Given the description of an element on the screen output the (x, y) to click on. 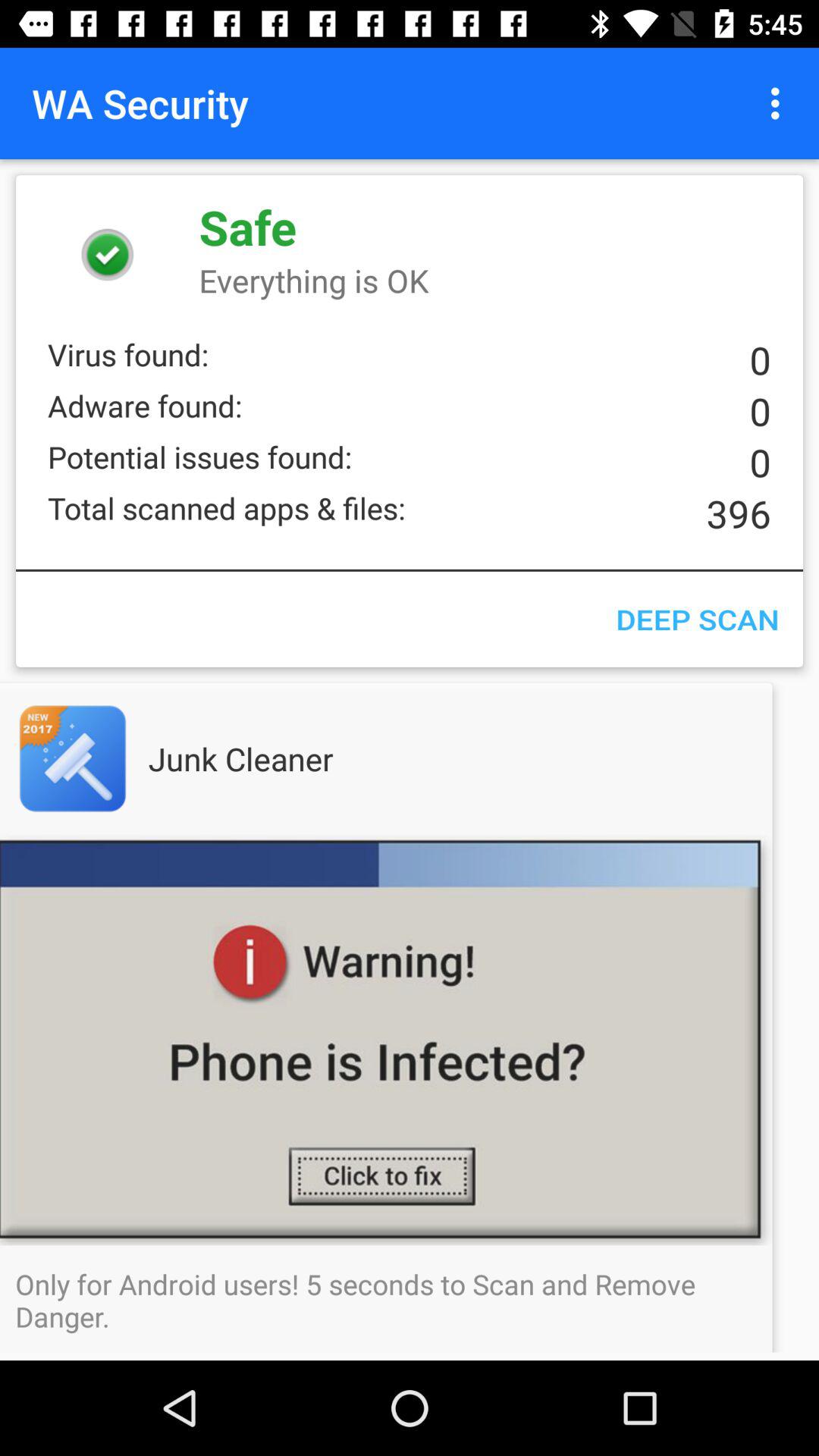
click icon to the right of the wa security item (779, 103)
